Given the description of an element on the screen output the (x, y) to click on. 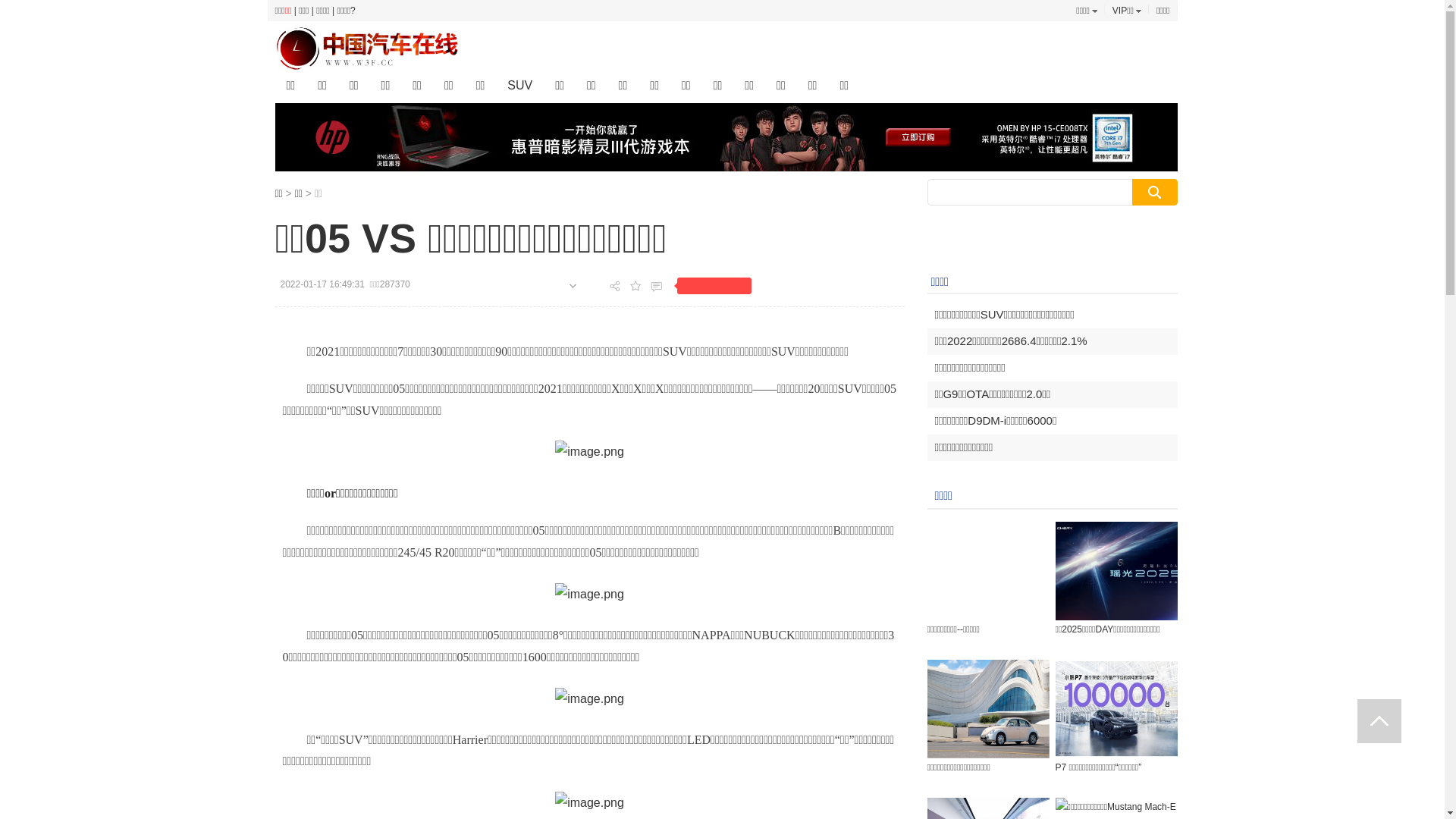
1642399144556229.png Element type: hover (589, 451)
  Element type: text (1379, 721)
SUV Element type: text (519, 85)
1642399180501193.png Element type: hover (589, 698)
1642399194604783.png Element type: hover (589, 802)
1642399163308909.png Element type: hover (589, 594)
